Given the description of an element on the screen output the (x, y) to click on. 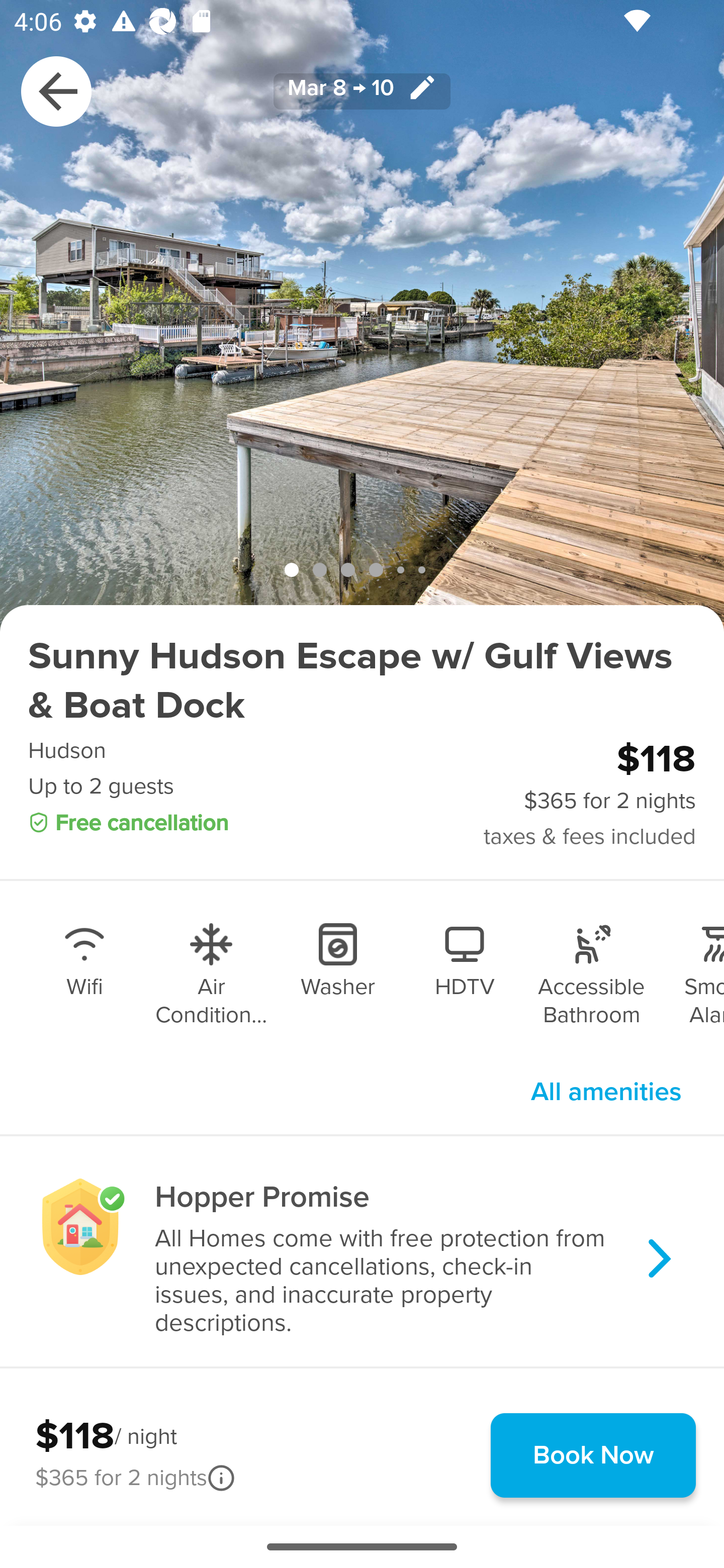
Mar 8 → 10 (361, 90)
Sunny Hudson Escape w/ Gulf Views & Boat Dock (361, 681)
All amenities (606, 1091)
Book Now (592, 1454)
